Given the description of an element on the screen output the (x, y) to click on. 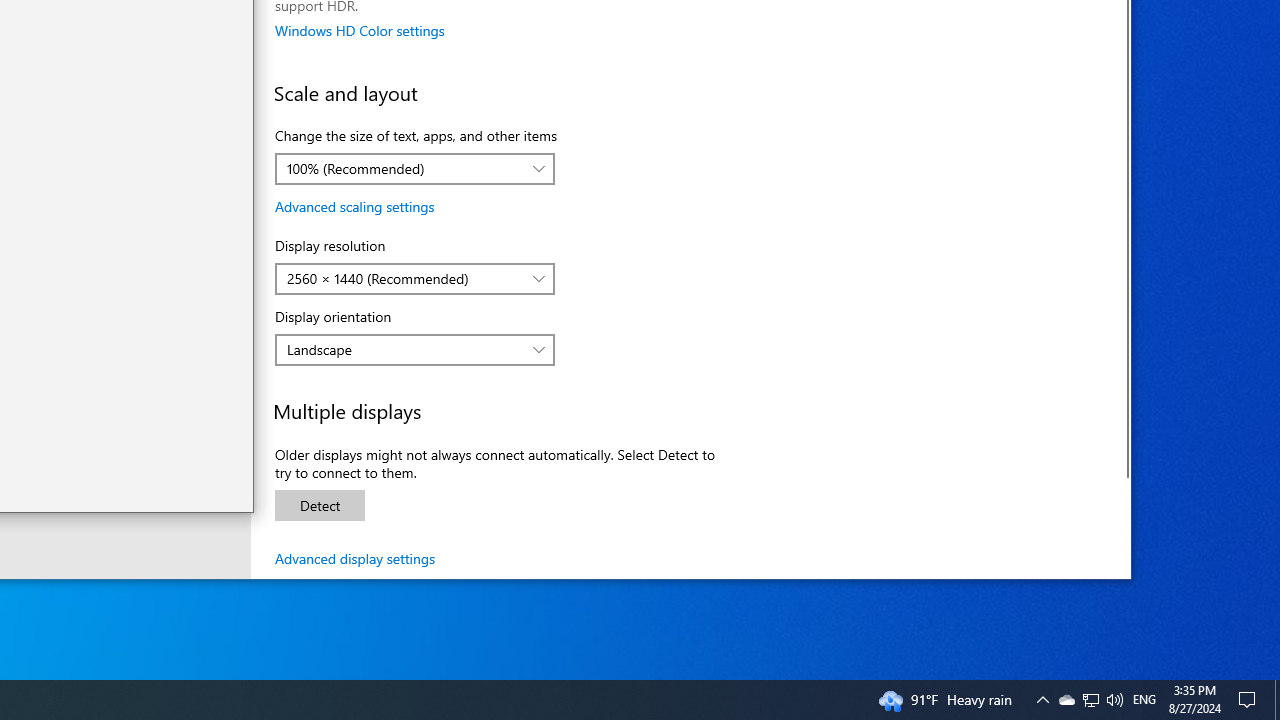
Notification Chevron (1042, 699)
Show desktop (1277, 699)
Tray Input Indicator - English (United States) (1144, 699)
User Promoted Notification Area (1090, 699)
Vertical Small Increase (246, 504)
Q2790: 100% (1114, 699)
Action Center, No new notifications (1250, 699)
